Given the description of an element on the screen output the (x, y) to click on. 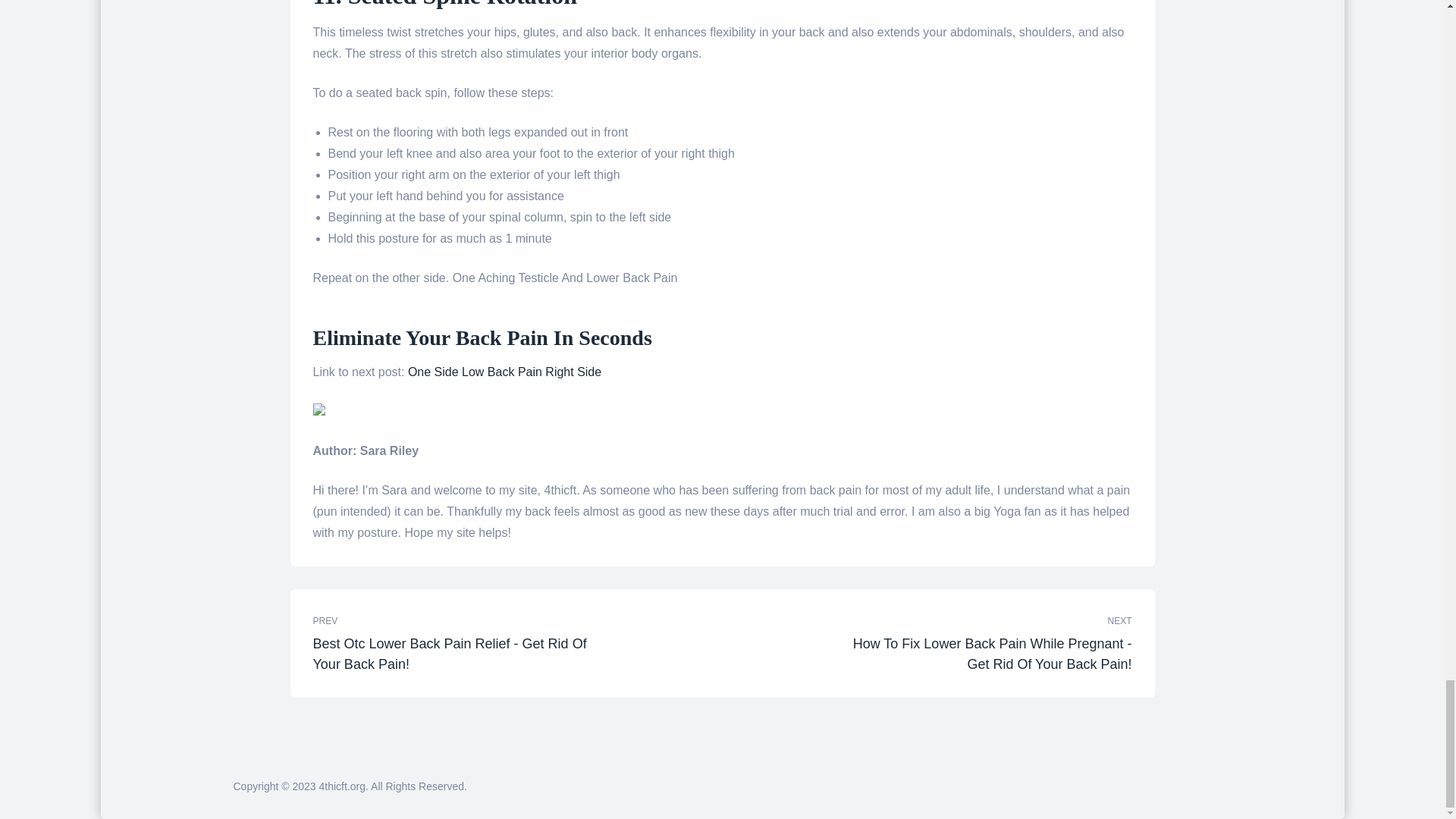
Best Otc Lower Back Pain Relief - Get Rid Of Your Back Pain! (513, 642)
4thicft.org (341, 786)
Eliminate Your Back Pain In Seconds (481, 337)
One Side Low Back Pain Right Side (504, 371)
Best Otc Lower Back Pain Relief - Get Rid Of Your Back Pain! (464, 653)
